Given the description of an element on the screen output the (x, y) to click on. 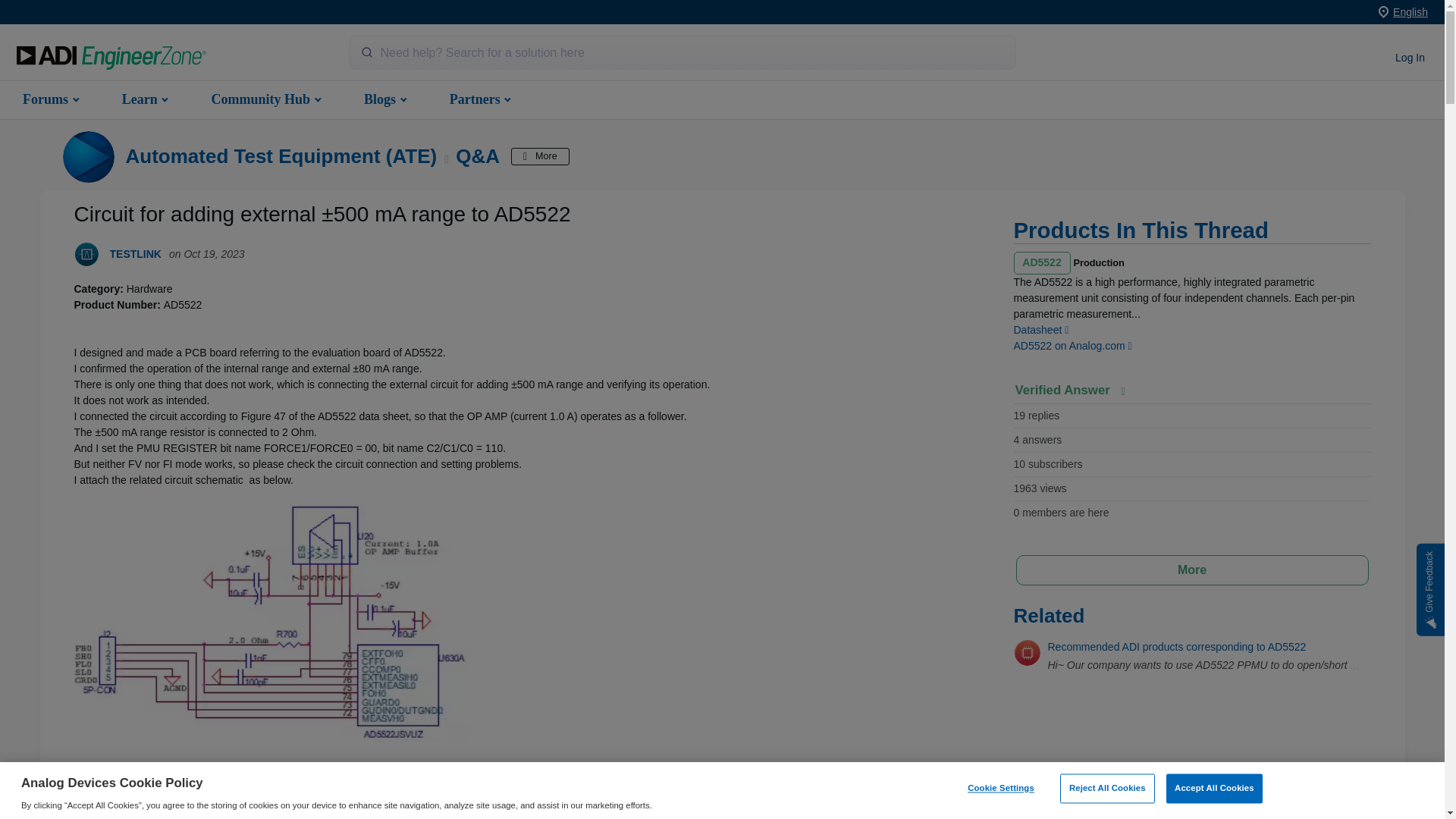
Log In (1409, 57)
English (1410, 11)
Forums (49, 98)
Home (111, 57)
Join or sign in (1409, 57)
